Given the description of an element on the screen output the (x, y) to click on. 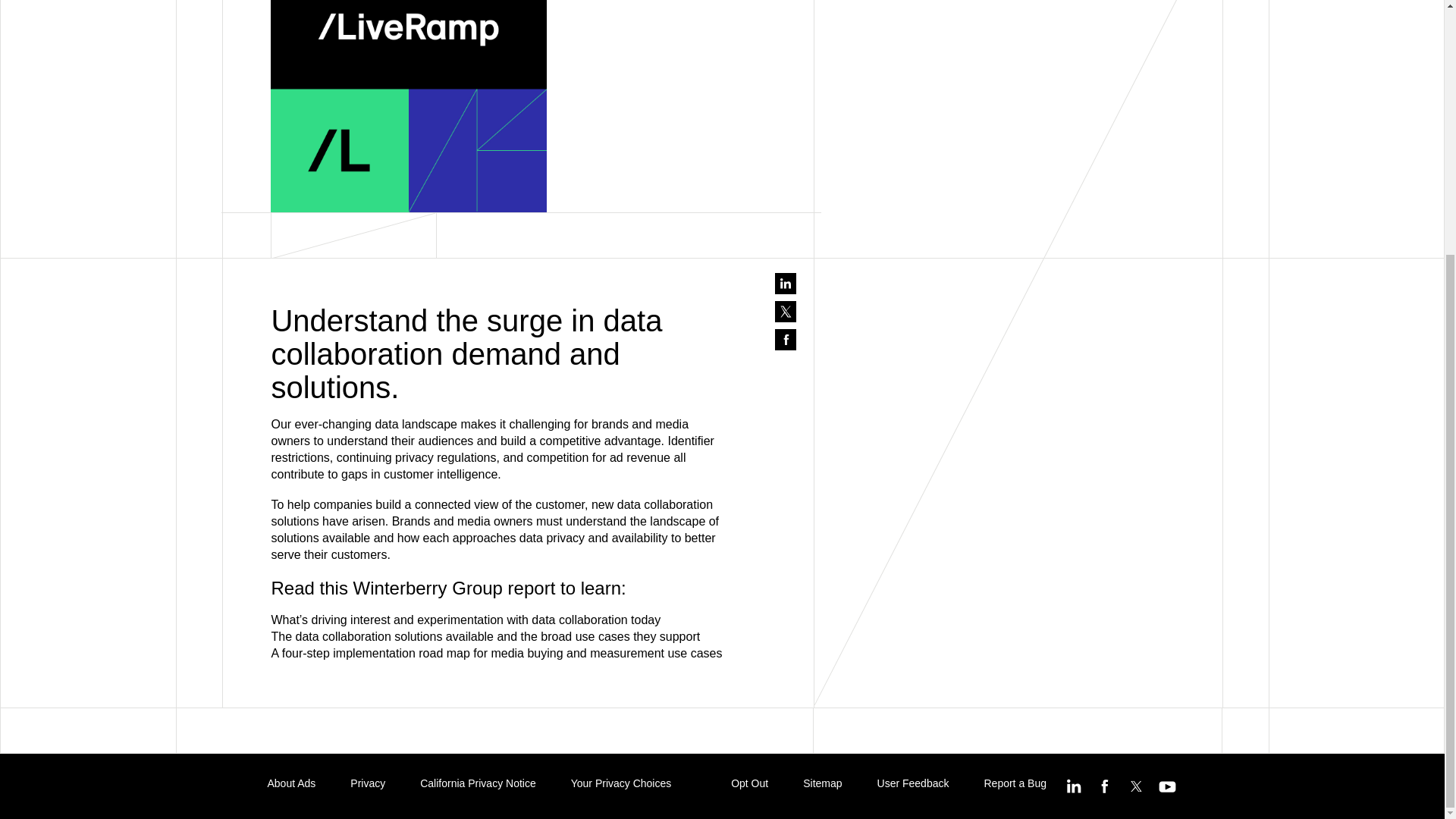
User Feedback (913, 783)
About Ads (290, 783)
YouTube (1166, 786)
Share on twitter (785, 311)
Share on linkedin (785, 283)
California Privacy Notice (477, 783)
Report a Bug (1015, 783)
Share on facebook (785, 339)
Opt Out (749, 783)
LinkedIn (1073, 786)
